Given the description of an element on the screen output the (x, y) to click on. 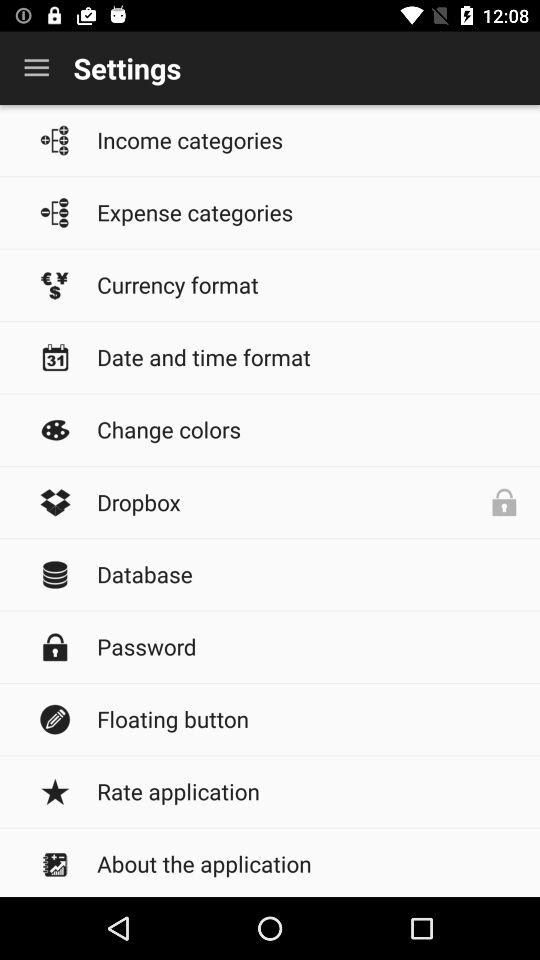
swipe to password item (308, 646)
